Given the description of an element on the screen output the (x, y) to click on. 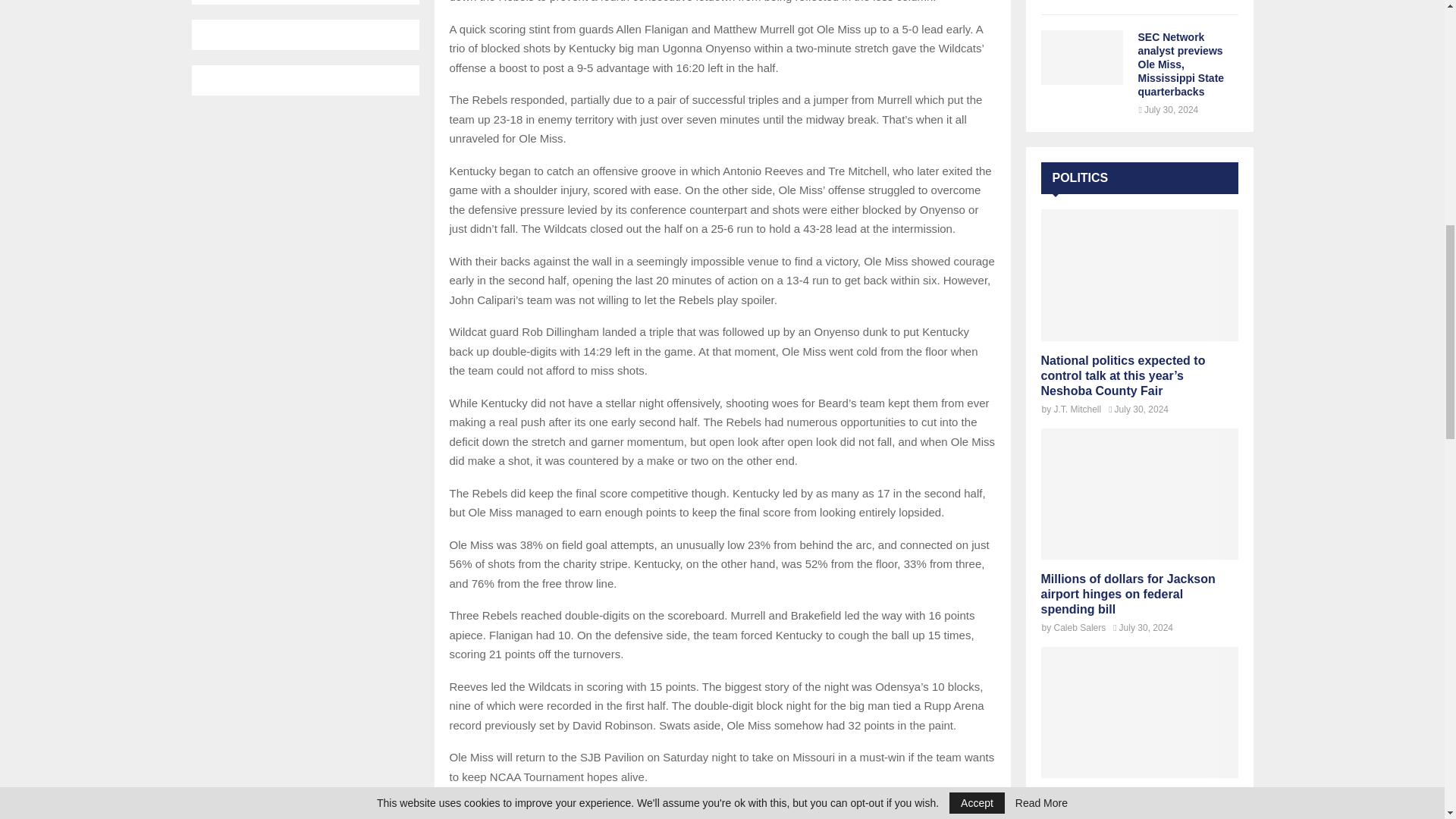
Like (535, 816)
